Given the description of an element on the screen output the (x, y) to click on. 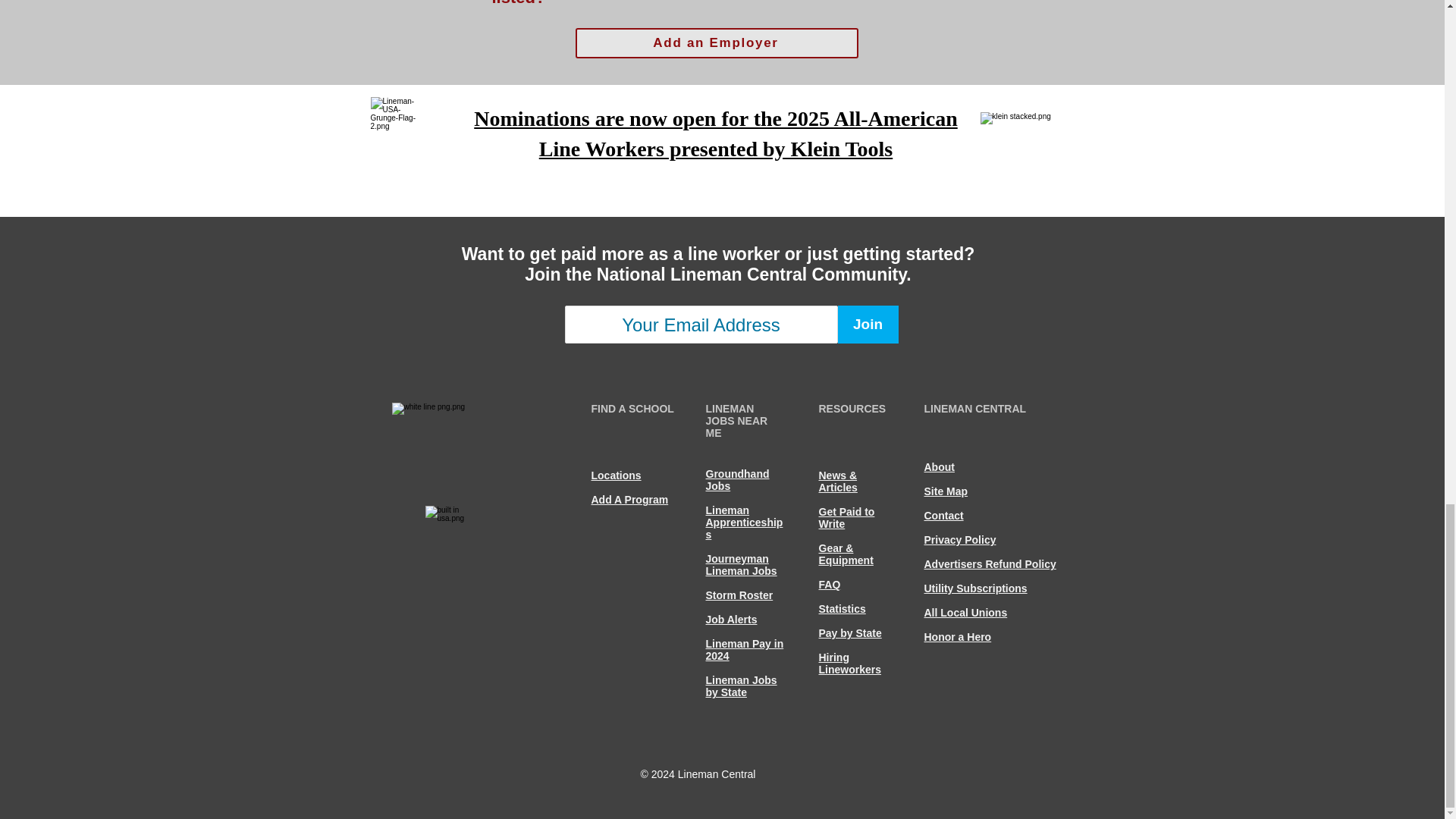
Statistics (842, 608)
Job Alerts (730, 619)
Add an Employer (716, 42)
Add A Program (629, 499)
Facebook Like (544, 734)
Lineman Jobs by State (740, 686)
Locations (616, 475)
FAQ (829, 584)
Get Paid to Write (846, 517)
